Given the description of an element on the screen output the (x, y) to click on. 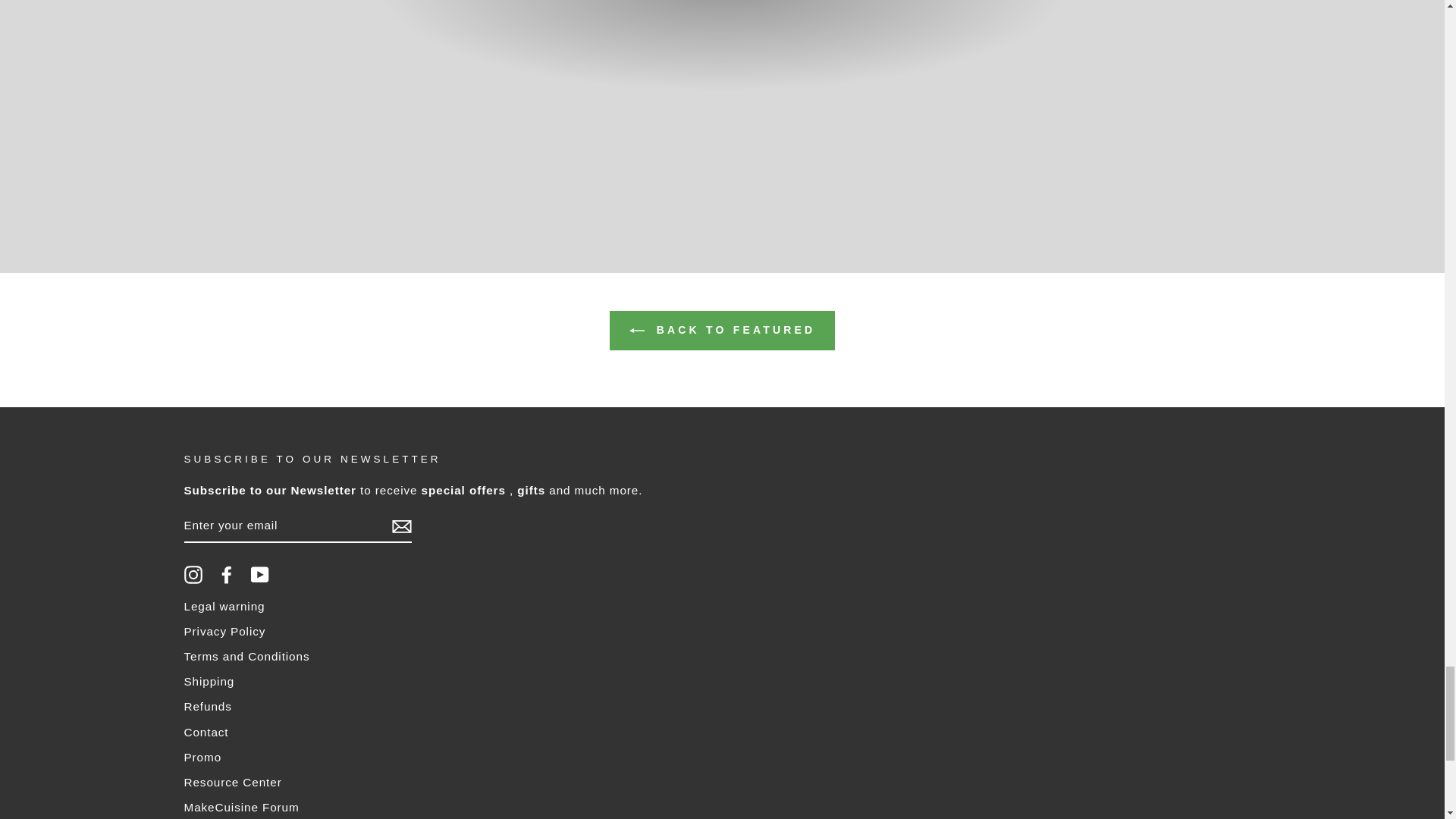
Make Cuisine on Facebook (225, 574)
Make Cuisine on Instagram (192, 574)
Make Cuisine on YouTube (259, 574)
